Given the description of an element on the screen output the (x, y) to click on. 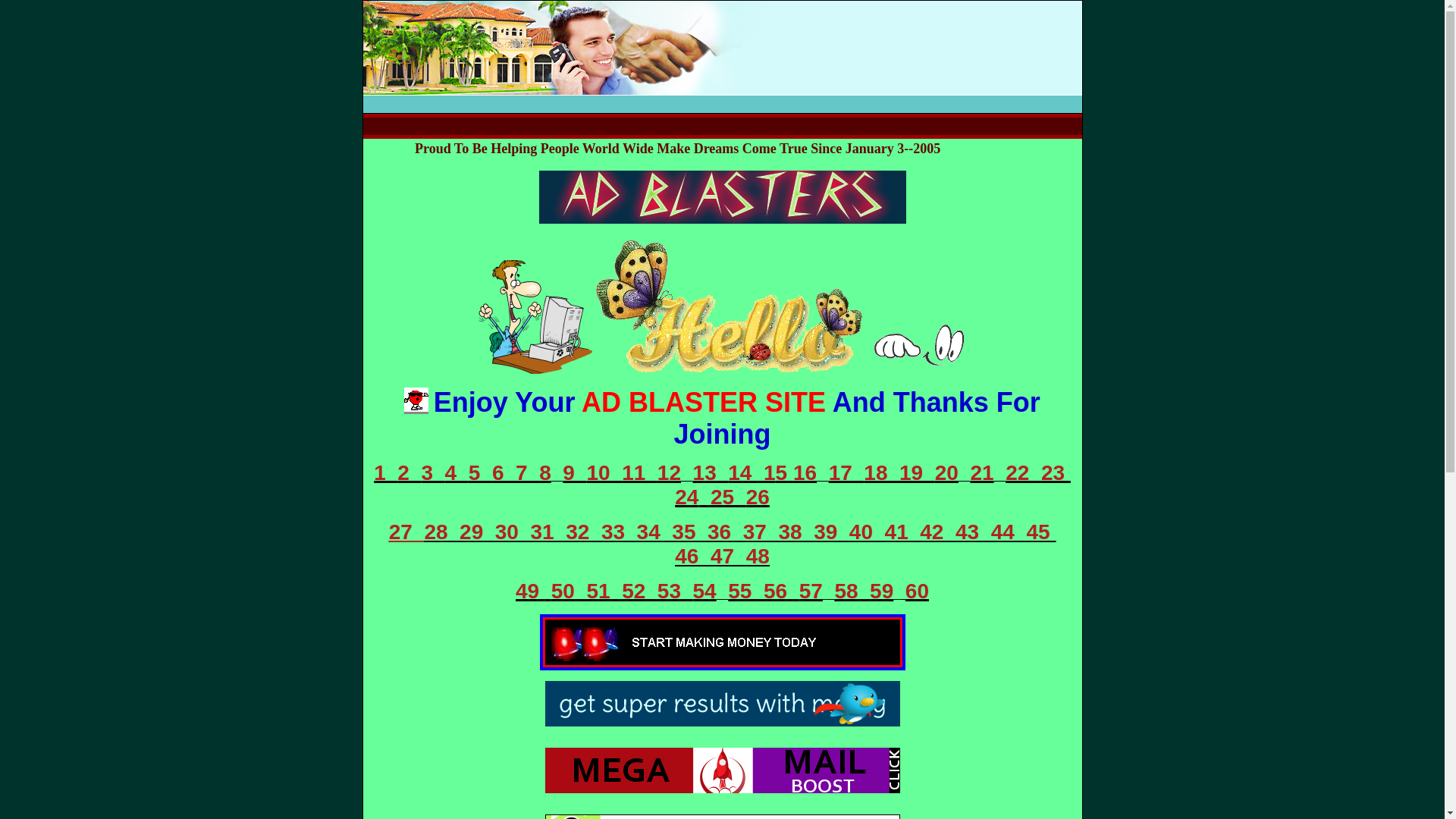
22  Element type: text (1023, 472)
16 Element type: text (804, 472)
3  Element type: text (432, 472)
19  Element type: text (917, 472)
13  Element type: text (710, 472)
10  Element type: text (603, 472)
8 Element type: text (545, 472)
42  Element type: text (937, 531)
46  Element type: text (692, 555)
59 Element type: text (881, 590)
26 Element type: text (757, 496)
34 Element type: text (648, 531)
50 Element type: text (562, 590)
6  Element type: text (503, 472)
55  Element type: text (745, 590)
36  Element type: text (725, 531)
  35  Element type: text (683, 531)
  51  Element type: text (597, 590)
32  Element type: text (583, 531)
17  Element type: text (846, 472)
44  Element type: text (1008, 531)
40  Element type: text (866, 531)
2  Element type: text (408, 472)
29 Element type: text (471, 531)
38  Element type: text (795, 531)
1 Element type: text (769, 472)
48 Element type: text (757, 555)
14  Element type: text (745, 472)
18  Element type: text (881, 472)
31  Element type: text (548, 531)
52  Element type: text (639, 590)
45  Element type: text (1040, 531)
37  Element type: text (760, 531)
7  Element type: text (527, 472)
33  Element type: text (619, 531)
21 Element type: text (981, 472)
58  Element type: text (851, 590)
24 Element type: text (686, 496)
20 Element type: text (946, 472)
54 Element type: text (704, 590)
43  Element type: text (973, 531)
39 Element type: text (825, 531)
49  Element type: text (533, 590)
60 Element type: text (916, 590)
41  Element type: text (902, 531)
  25  Element type: text (721, 496)
30  Element type: text (512, 531)
56  Element type: text (781, 590)
5  Element type: text (480, 472)
27  Element type: text (406, 531)
53  Element type: text (675, 590)
12 Element type: text (668, 472)
57 Element type: text (810, 590)
47  Element type: text (728, 555)
5 Element type: text (781, 472)
1  Element type: text (385, 472)
4  Element type: text (456, 472)
28  Element type: text (441, 531)
11  Element type: text (639, 472)
23  Element type: text (1055, 472)
9  Element type: text (574, 472)
